Given the description of an element on the screen output the (x, y) to click on. 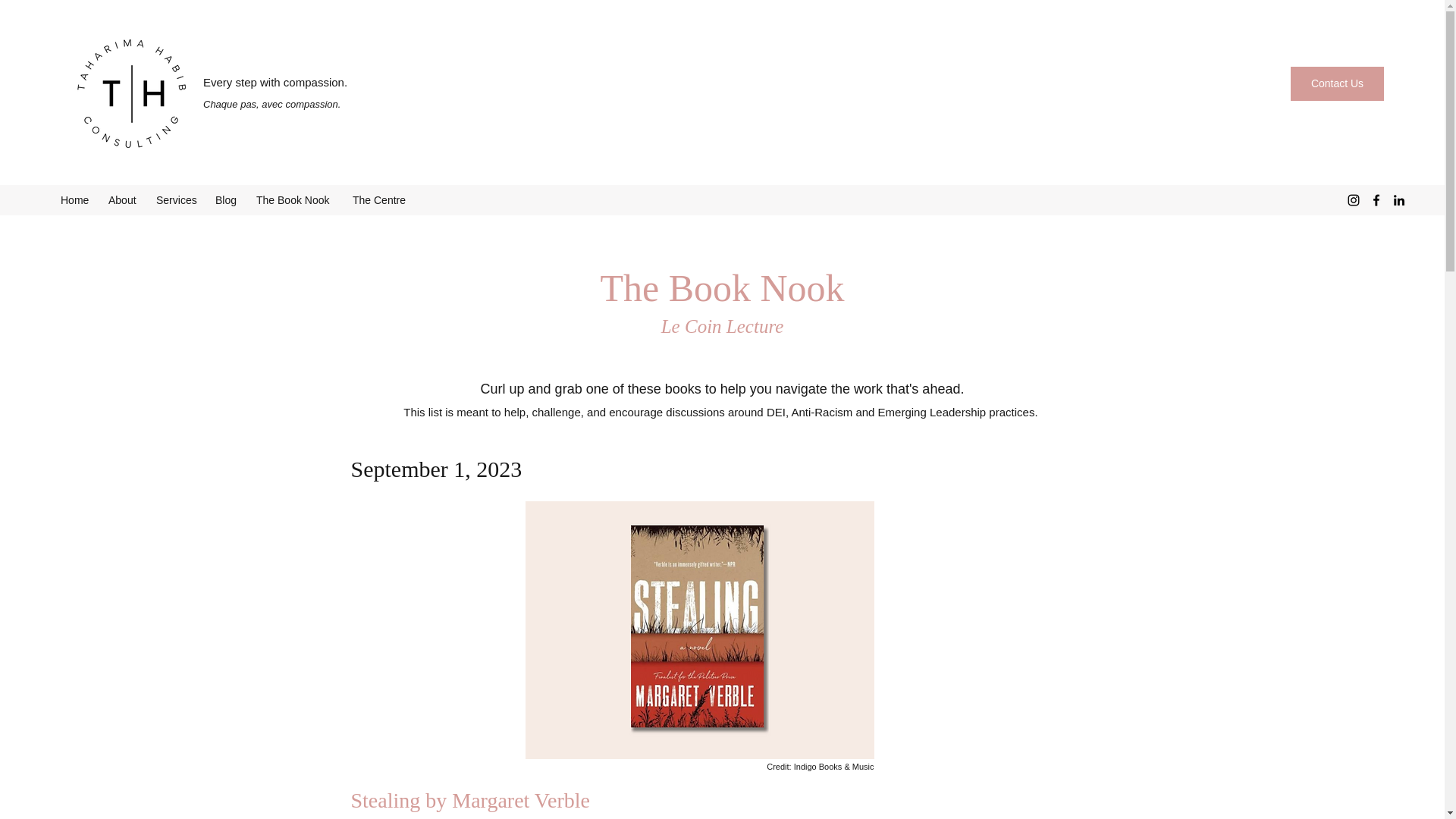
Home (76, 200)
Contact Us (1337, 83)
Blog (228, 200)
Services (178, 200)
The Centre (381, 200)
The Book Nook (296, 200)
About (124, 200)
